Given the description of an element on the screen output the (x, y) to click on. 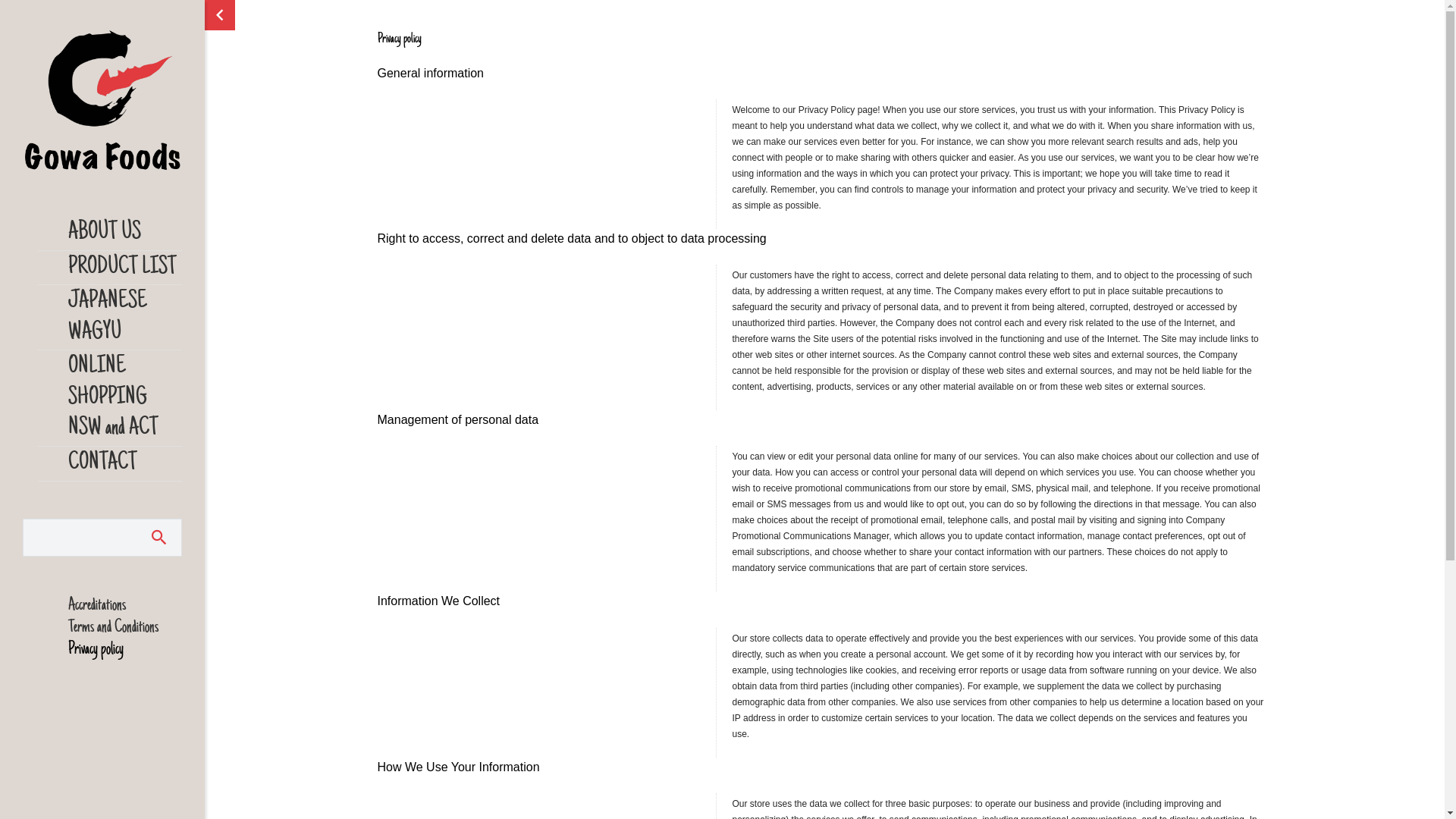
ABOUT US Element type: text (125, 232)
Privacy policy Element type: text (125, 649)
Accreditations Element type: text (125, 605)
  Element type: text (159, 537)
CONTACT Element type: text (125, 463)
JAPANESE WAGYU Element type: text (125, 317)
Terms and Conditions Element type: text (125, 627)
PRODUCT LIST Element type: text (125, 267)
ONLINE SHOPPING NSW and ACT Element type: text (125, 397)
